Given the description of an element on the screen output the (x, y) to click on. 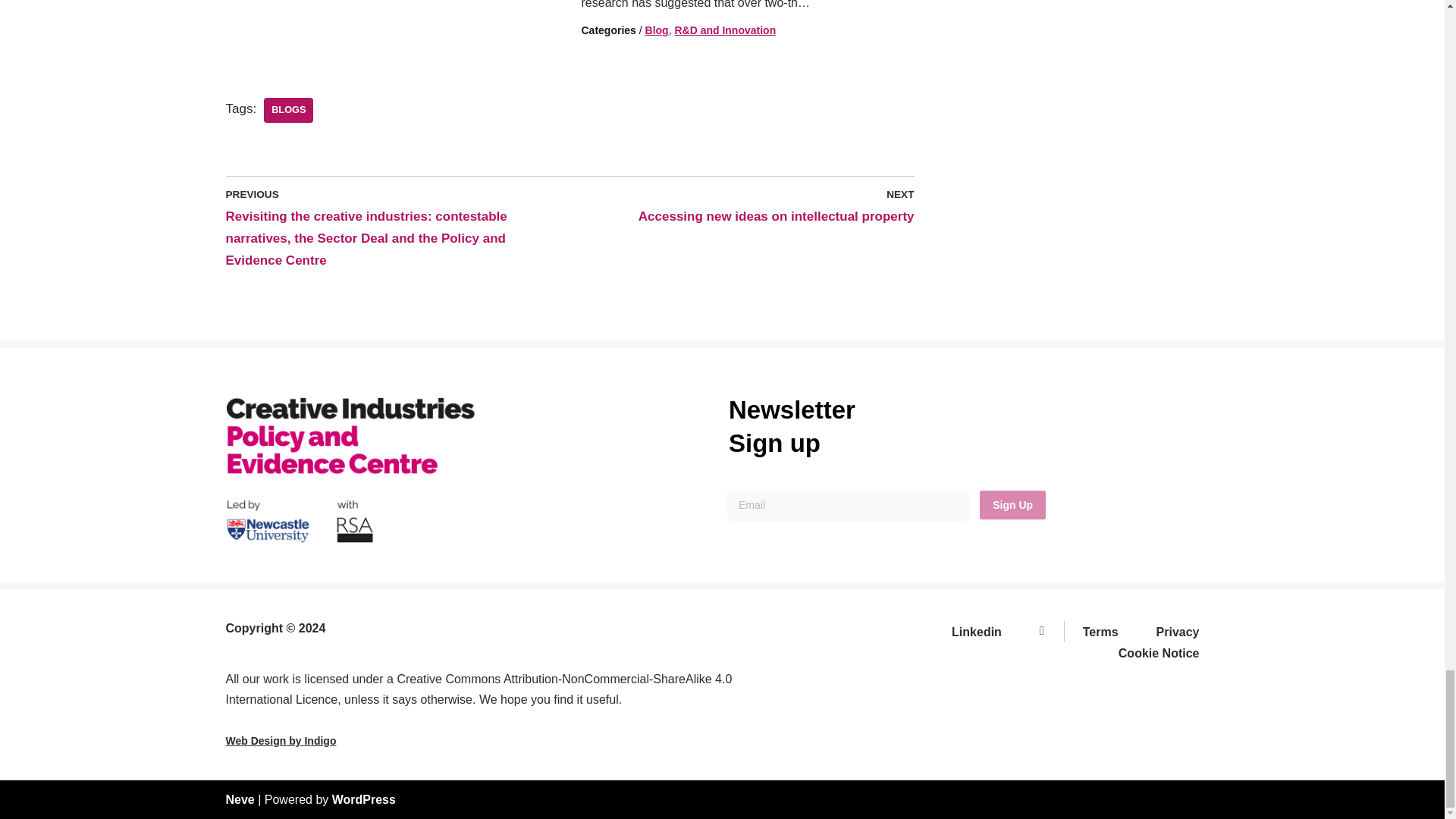
Blogs (288, 109)
Linkedin (984, 631)
Sign Up (1012, 504)
